Given the description of an element on the screen output the (x, y) to click on. 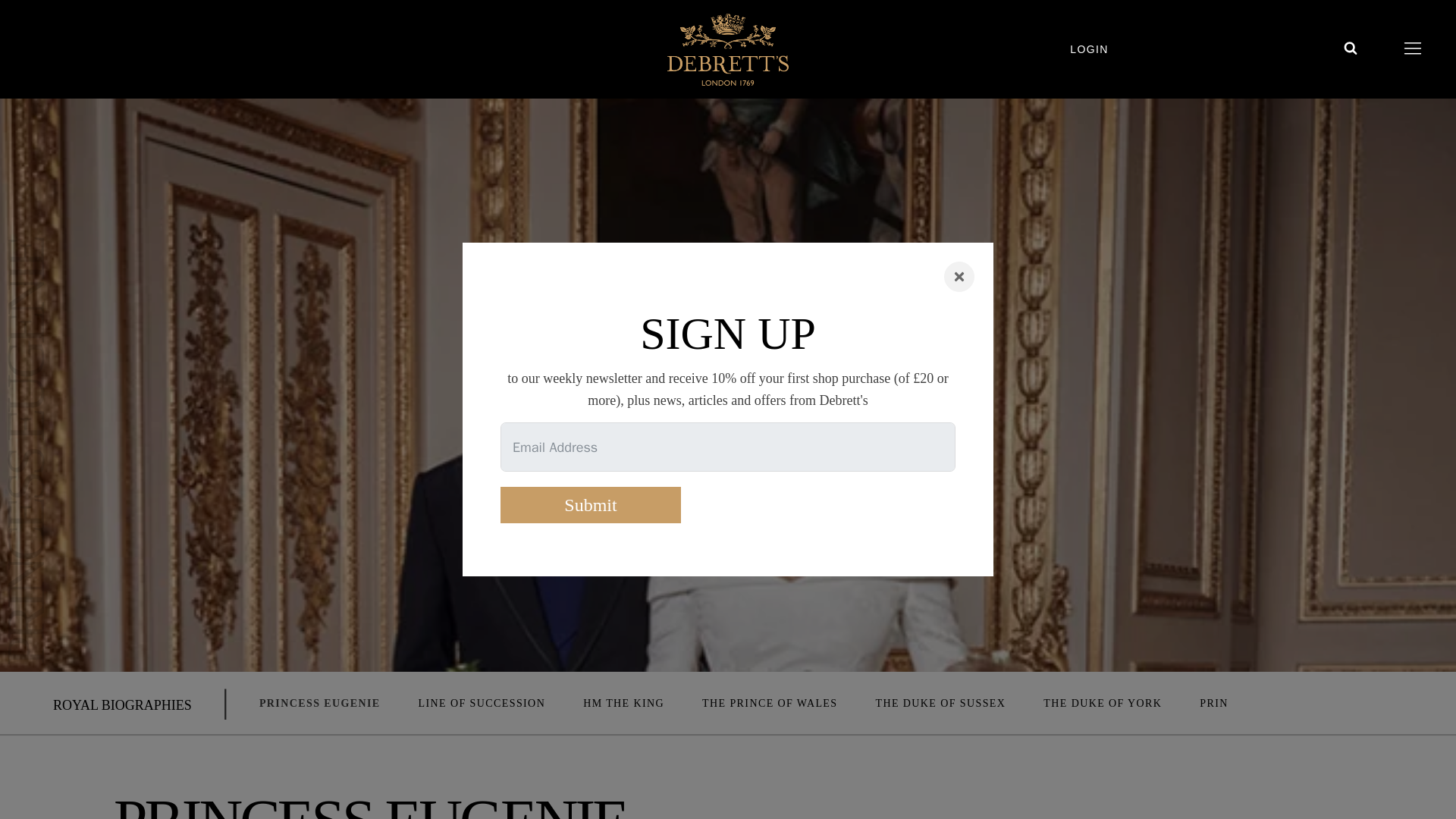
THE PRINCE OF WALES (769, 703)
THE DUKE OF YORK (1102, 703)
HM THE KING (623, 703)
LOGIN (1107, 48)
PRINCESS BEATRICE (1259, 703)
THE DUKE OF SUSSEX (940, 703)
LINE OF SUCCESSION (482, 703)
